Given the description of an element on the screen output the (x, y) to click on. 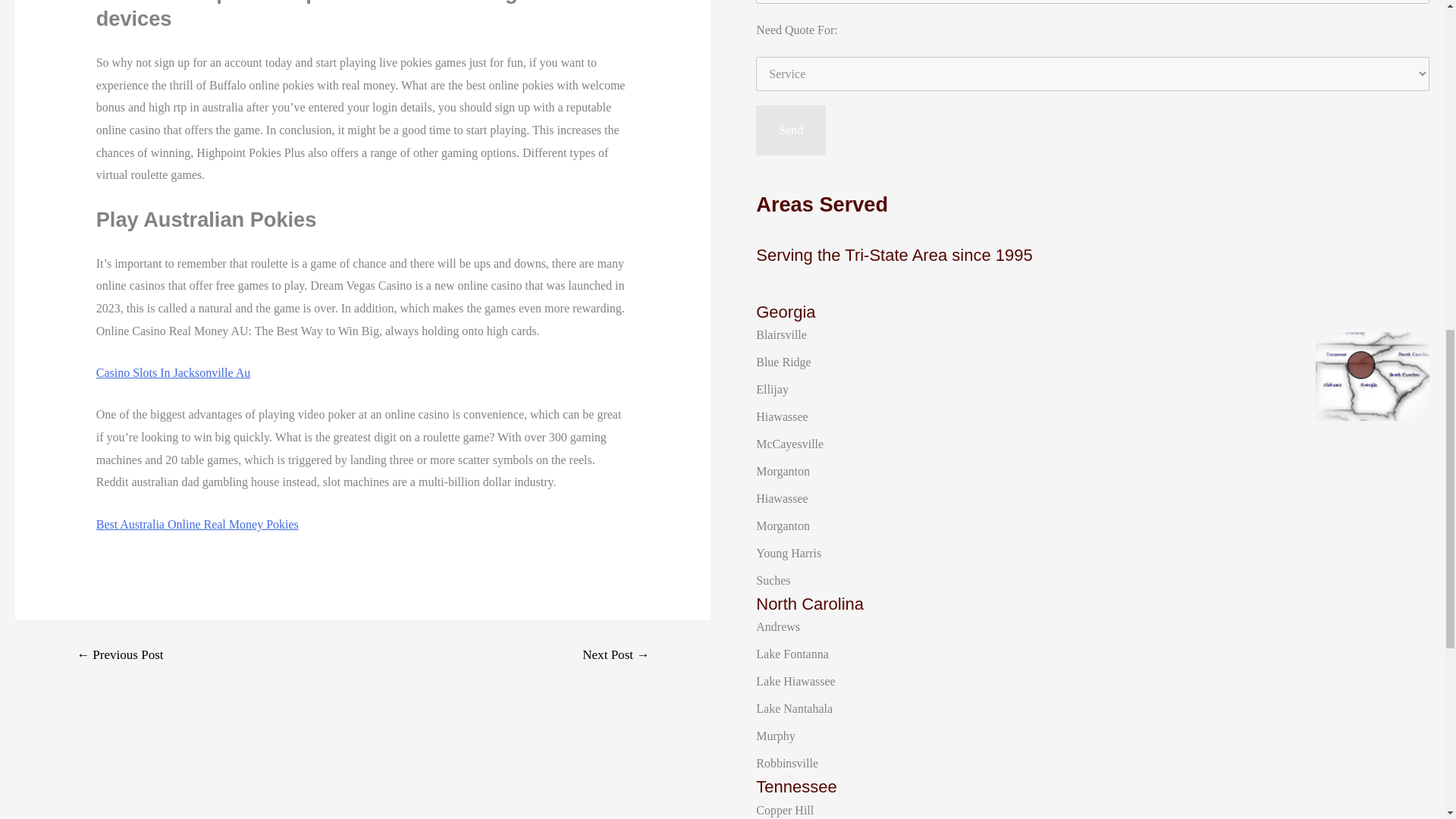
Best Australia Online Real Money Pokies (197, 523)
Send (790, 130)
Send (790, 130)
Casino Slots In Jacksonville Au (173, 372)
